Given the description of an element on the screen output the (x, y) to click on. 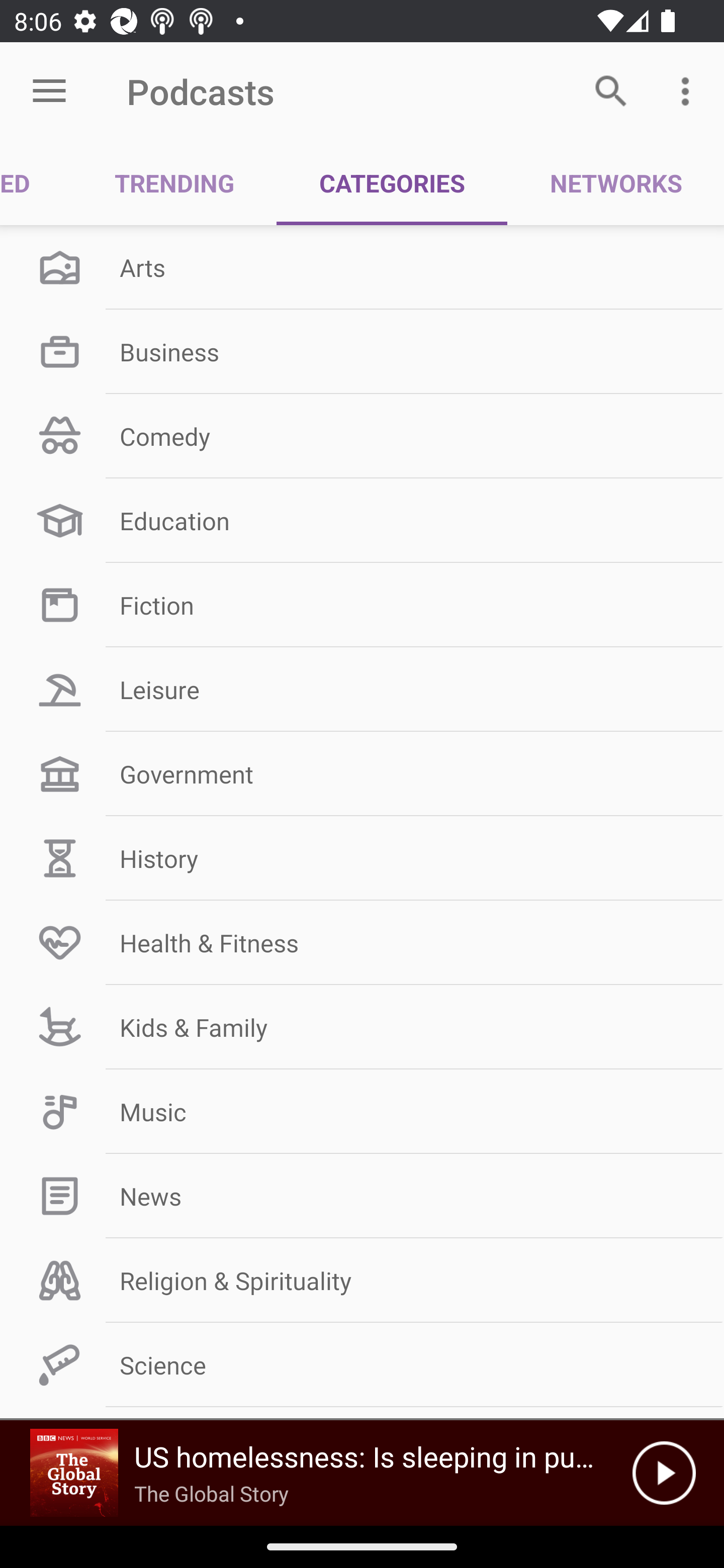
Open menu (49, 91)
Search (611, 90)
More options (688, 90)
TRENDING (174, 183)
CATEGORIES (391, 183)
NETWORKS (615, 183)
Arts (362, 266)
Business (362, 350)
Comedy (362, 435)
Education (362, 520)
Fiction (362, 604)
Leisure (362, 689)
Government (362, 774)
History (362, 858)
Health & Fitness (362, 942)
Kids & Family (362, 1026)
Music (362, 1111)
News (362, 1196)
Religion & Spirituality (362, 1280)
Science (362, 1364)
Play (663, 1472)
